Given the description of an element on the screen output the (x, y) to click on. 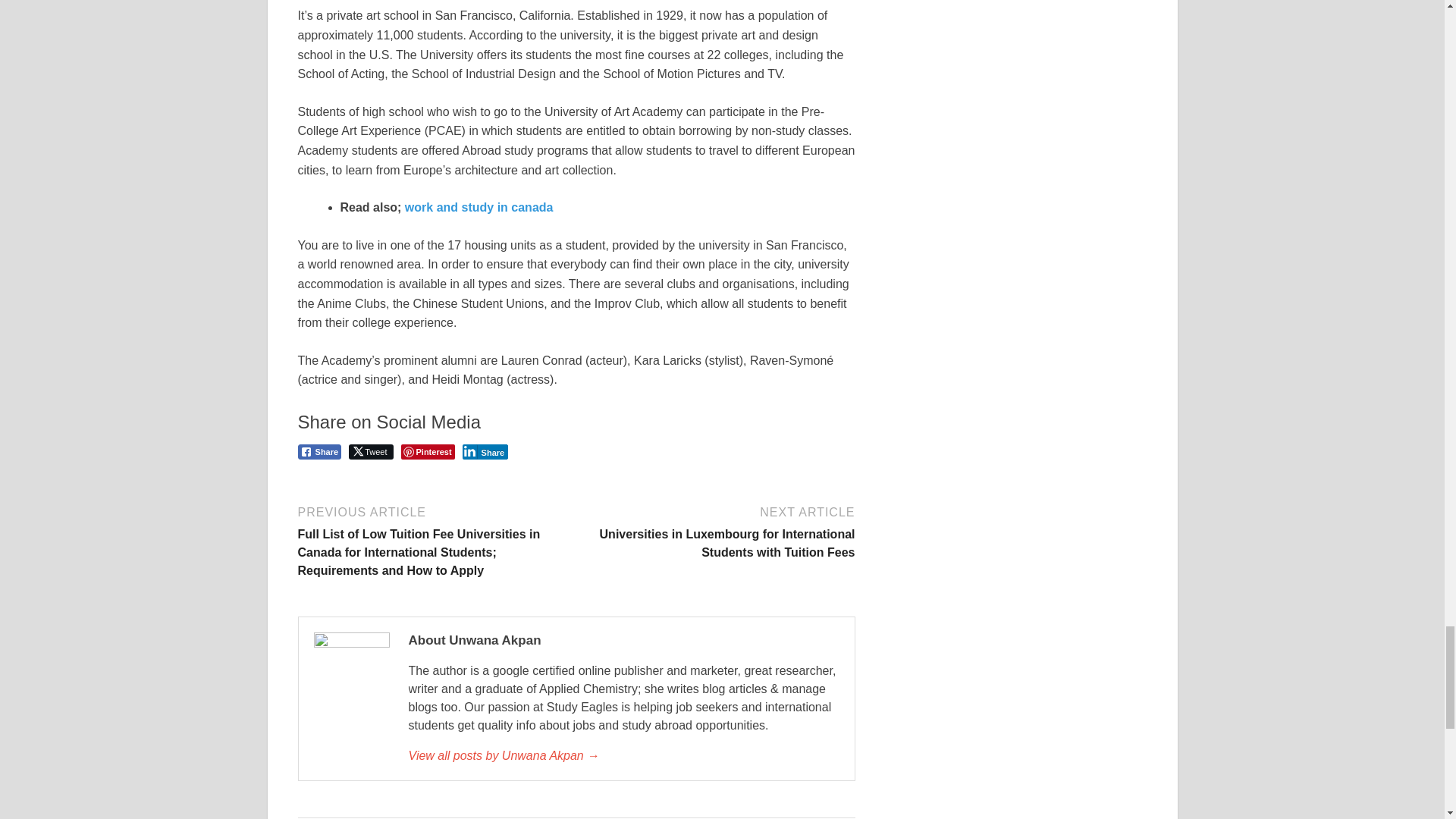
Pinterest (427, 451)
Share (485, 451)
Share (318, 451)
Tweet (371, 451)
Unwana Akpan (622, 755)
work and study in canada (478, 206)
